Given the description of an element on the screen output the (x, y) to click on. 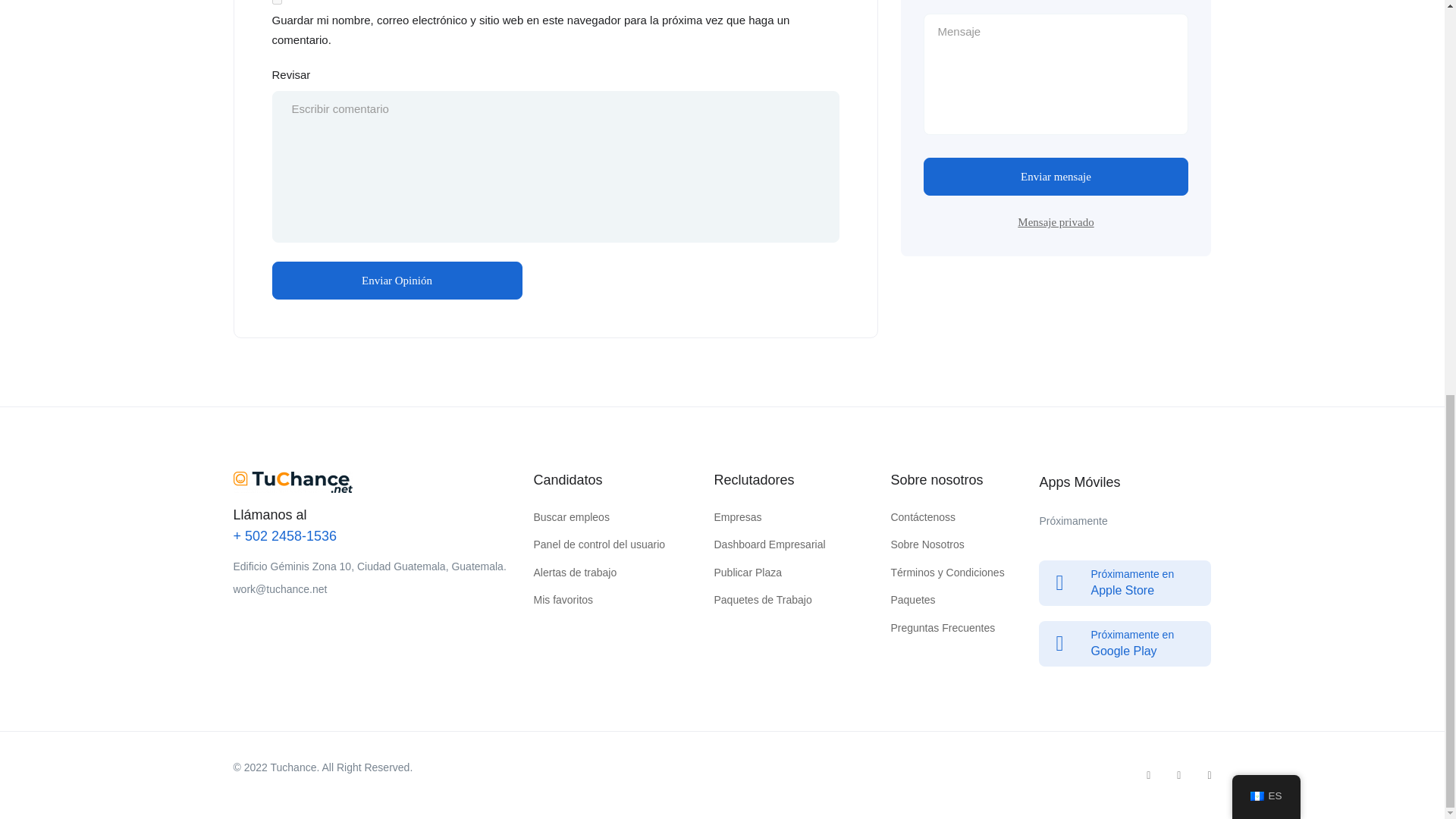
yes (275, 2)
Spanish (1256, 34)
